Given the description of an element on the screen output the (x, y) to click on. 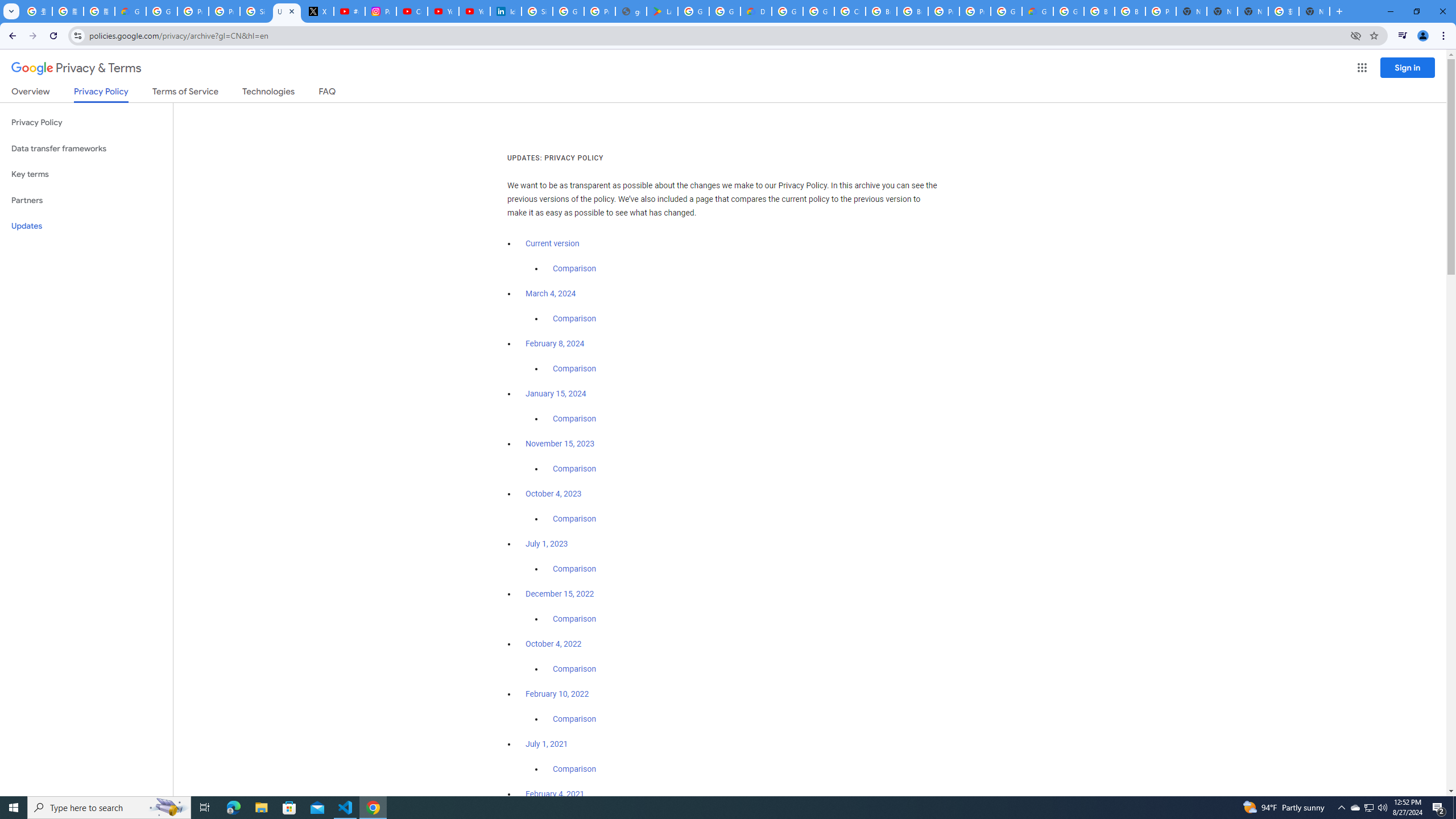
Privacy Help Center - Policies Help (192, 11)
February 4, 2021 (555, 793)
New Tab (1314, 11)
New Tab (1190, 11)
